Given the description of an element on the screen output the (x, y) to click on. 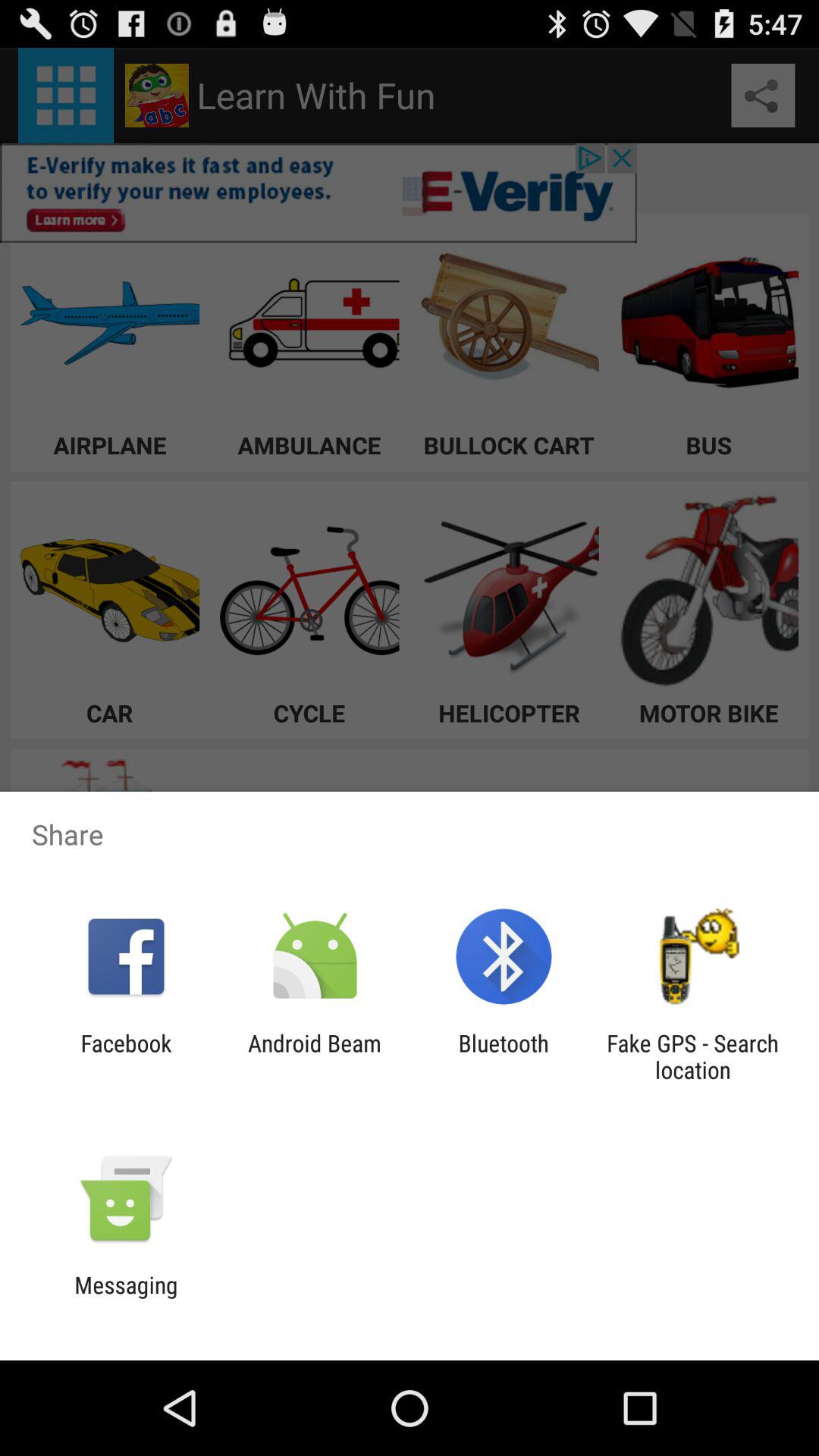
scroll until the fake gps search icon (692, 1056)
